Given the description of an element on the screen output the (x, y) to click on. 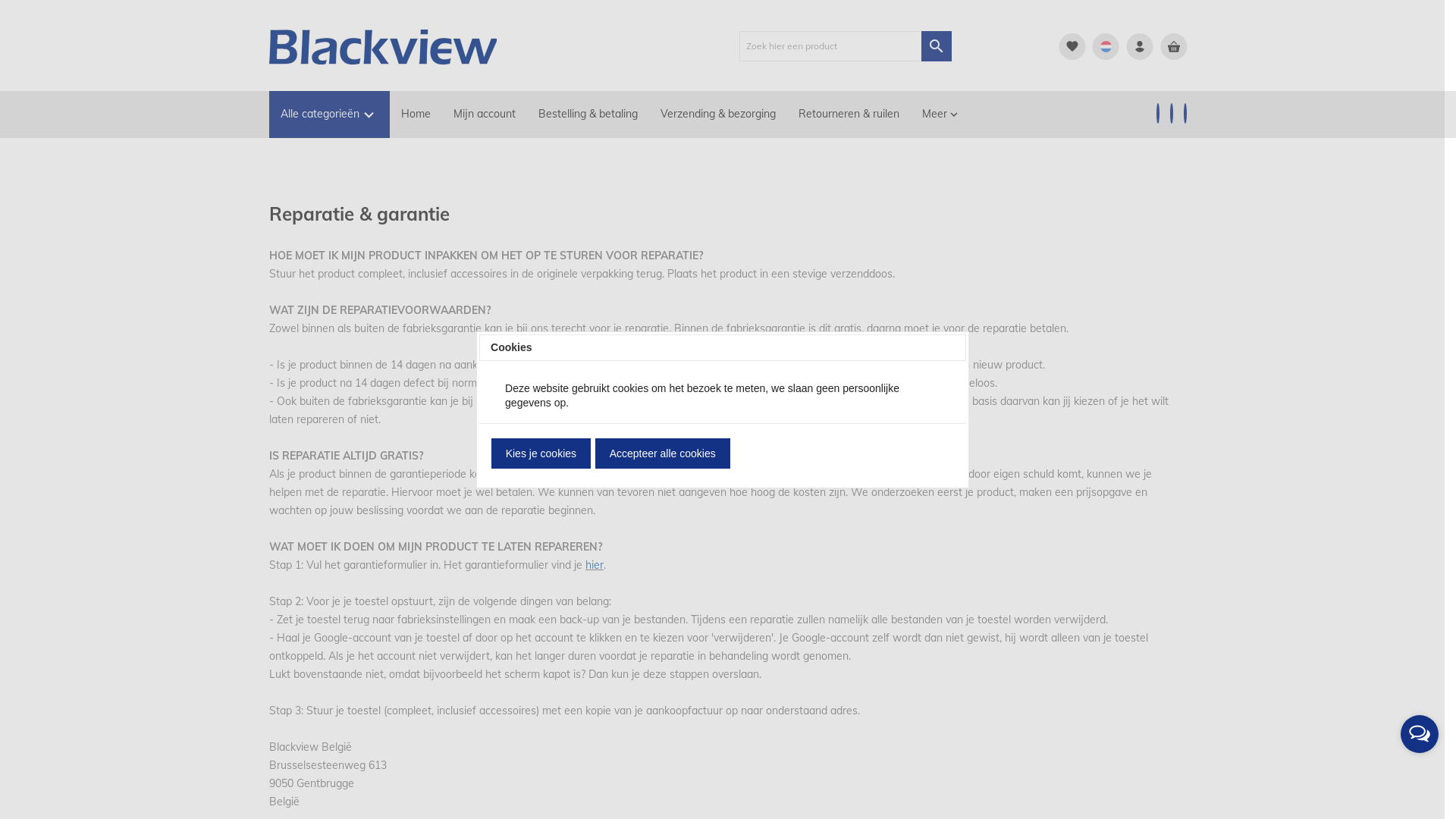
Accepteer alle cookies Element type: text (662, 453)
hier Element type: text (594, 564)
Home Element type: text (415, 114)
Login Element type: hover (1139, 45)
Bestelling & betaling Element type: text (588, 114)
Retourneren & ruilen Element type: text (848, 114)
Homepage Element type: hover (382, 45)
Kies je cookies Element type: text (540, 453)
Verzending & bezorging Element type: text (718, 114)
favorite Element type: text (1072, 45)
Mijn account Element type: text (484, 114)
